Given the description of an element on the screen output the (x, y) to click on. 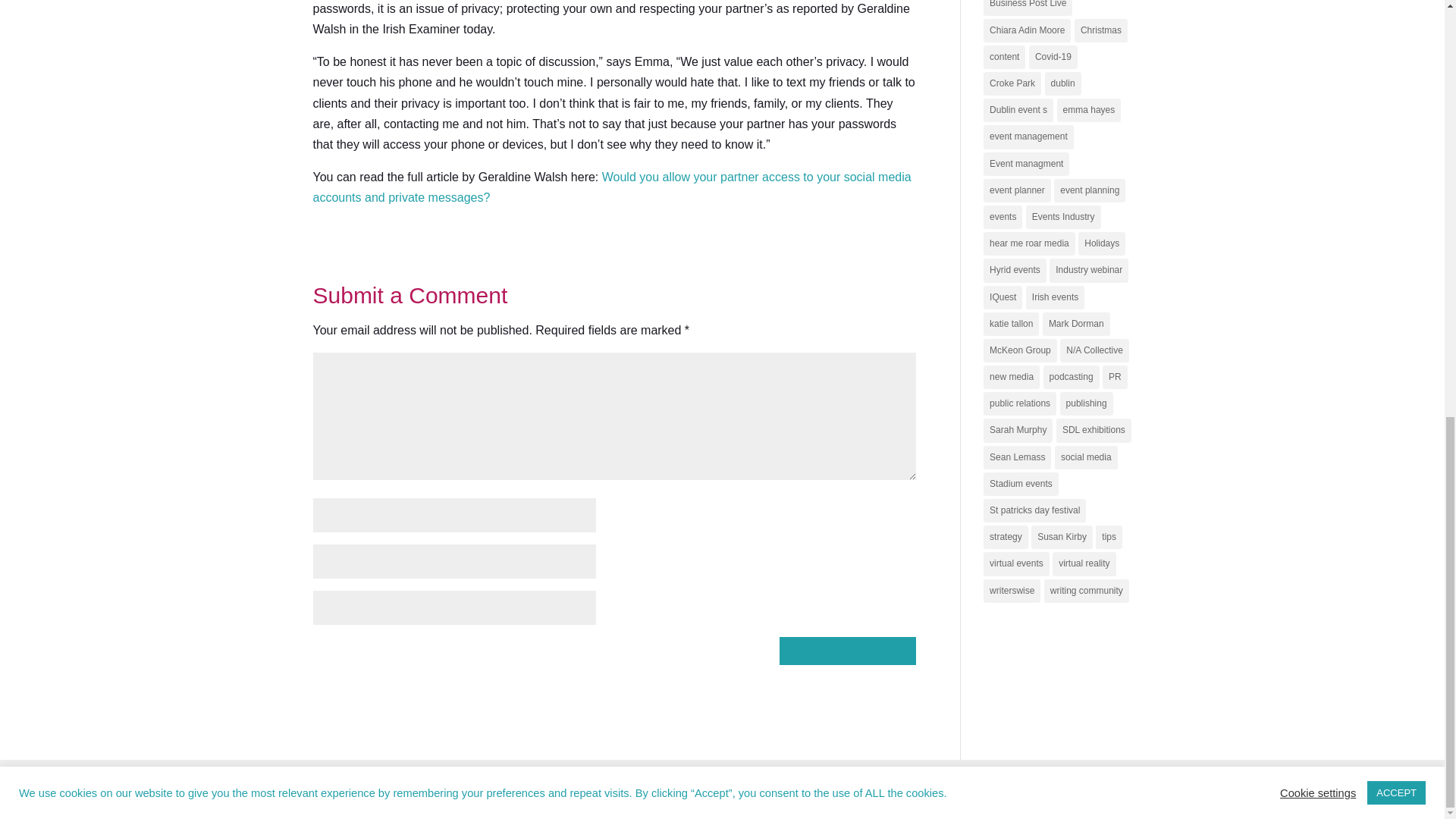
Business Post Live (1027, 7)
Croke Park (1012, 83)
Chiara Adin Moore (1027, 30)
Christmas (1100, 30)
Covid-19 (1053, 56)
Submit Comment (846, 651)
content (1004, 56)
Submit Comment (846, 651)
